Given the description of an element on the screen output the (x, y) to click on. 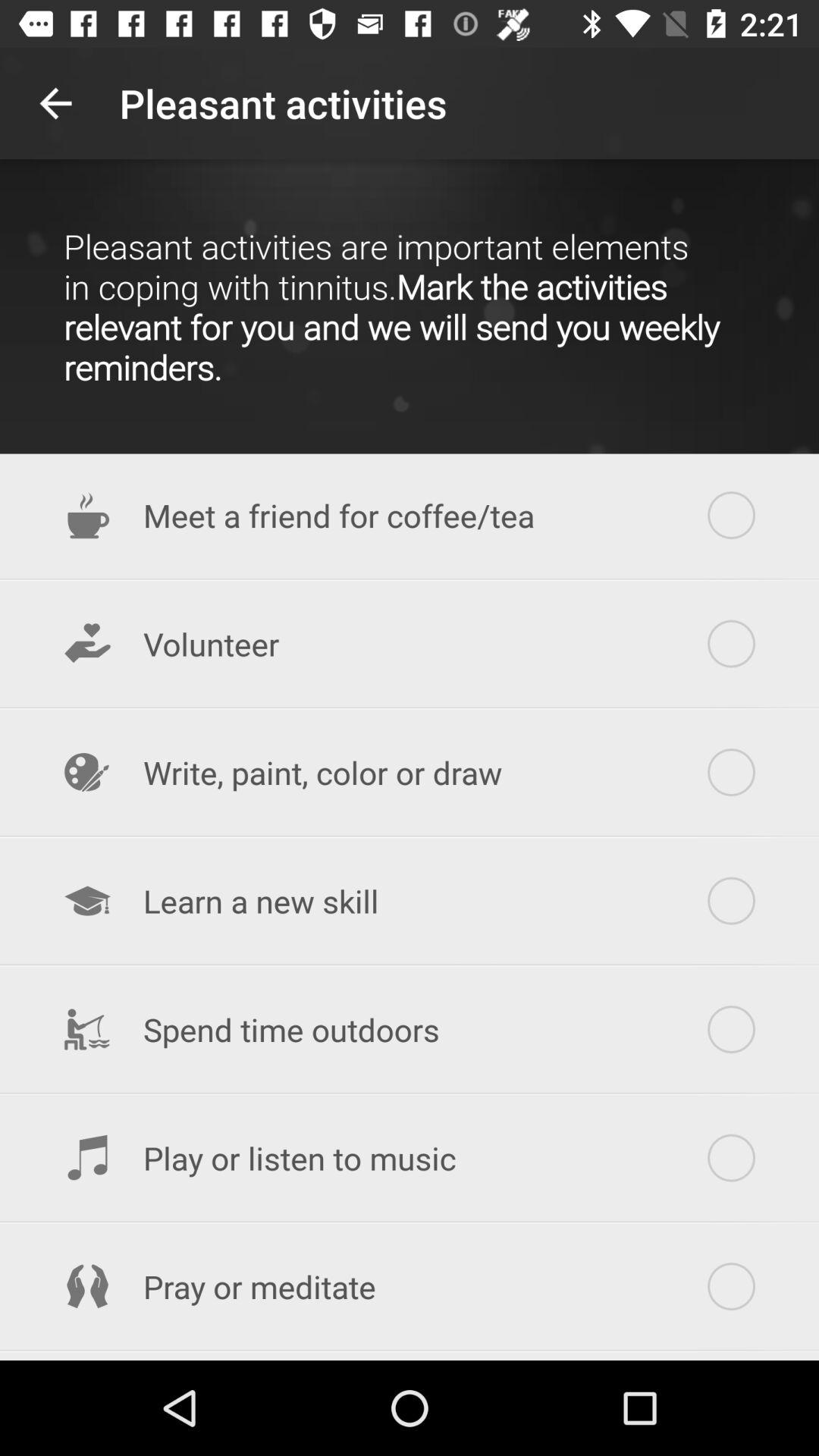
turn off the write paint color item (409, 772)
